Given the description of an element on the screen output the (x, y) to click on. 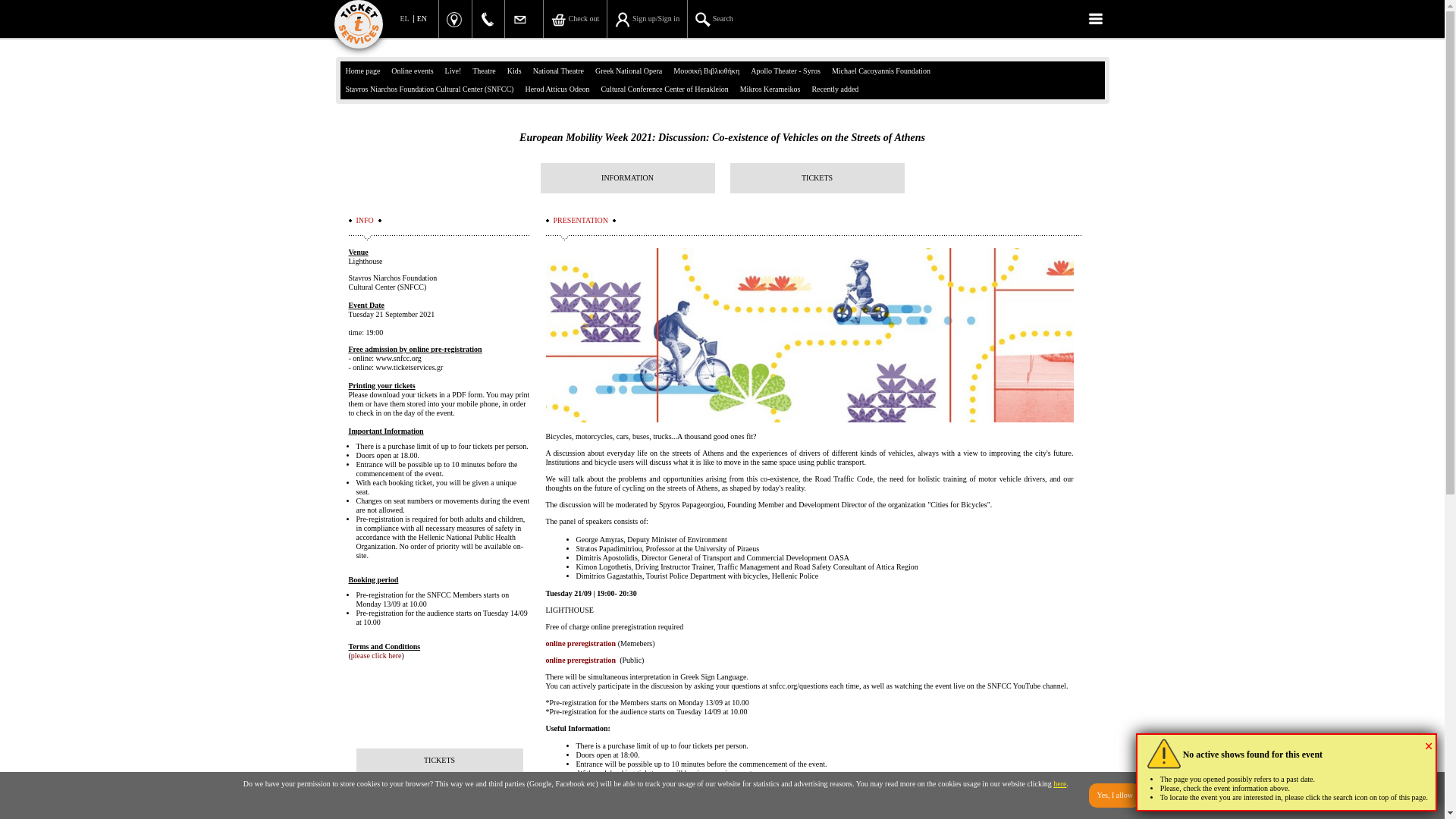
Greek National Opera (629, 71)
Recently added (835, 89)
Check out (574, 18)
Theatre (484, 71)
Live! (454, 71)
Apollo Theater - Syros (786, 71)
Kids (515, 71)
Herod Atticus Odeon (557, 89)
National Theatre (559, 71)
Home page (363, 71)
Online events (413, 71)
Michael Cacoyannis Foundation (882, 71)
Search (713, 18)
Mikros Kerameikos (771, 89)
Cultural Conference Center of Herakleion (665, 89)
